Given the description of an element on the screen output the (x, y) to click on. 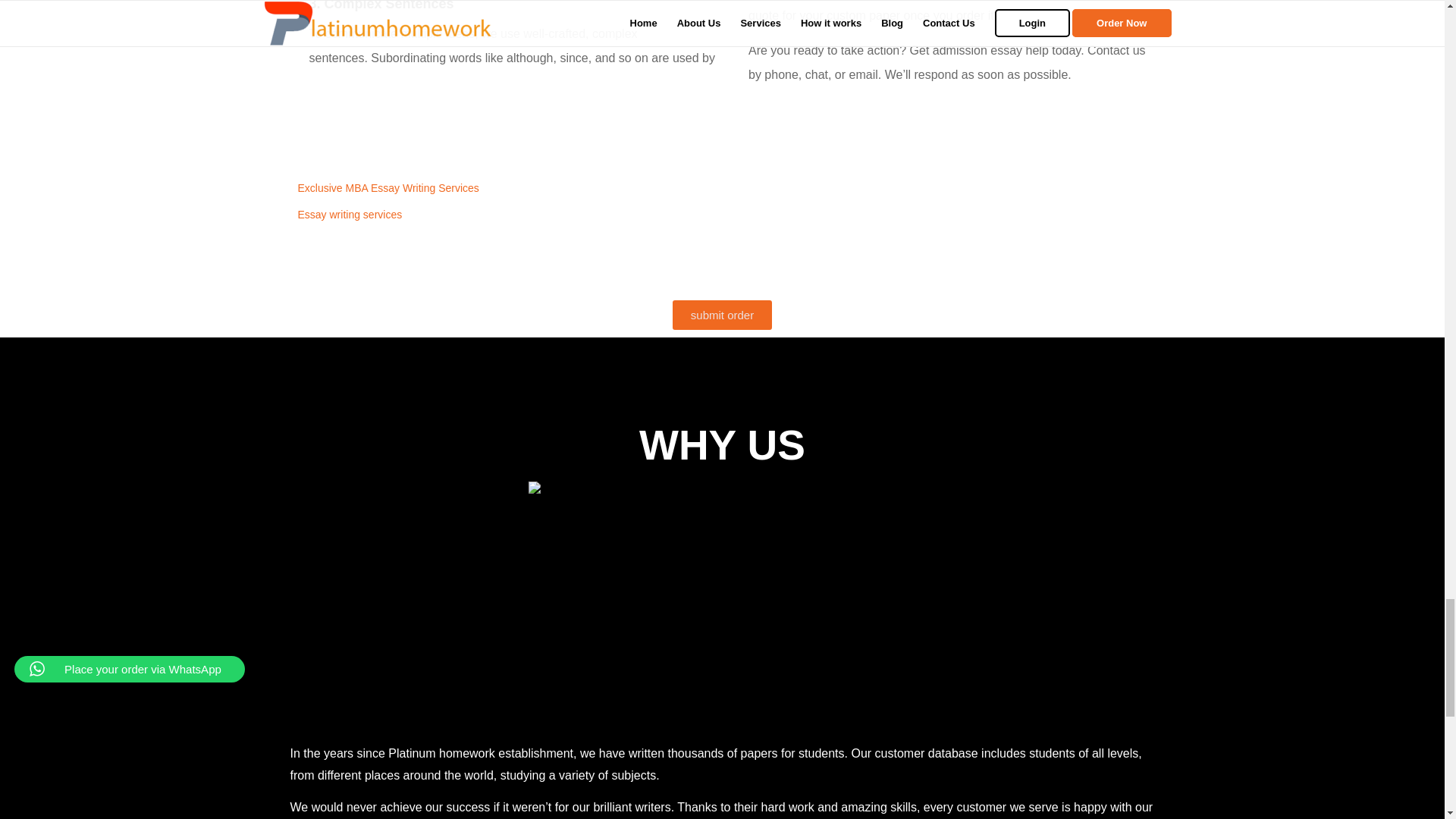
Essay writing services  (350, 214)
Assignment writing services (721, 599)
submit order (721, 315)
Exclusive MBA Essay Writing Services (388, 187)
